Given the description of an element on the screen output the (x, y) to click on. 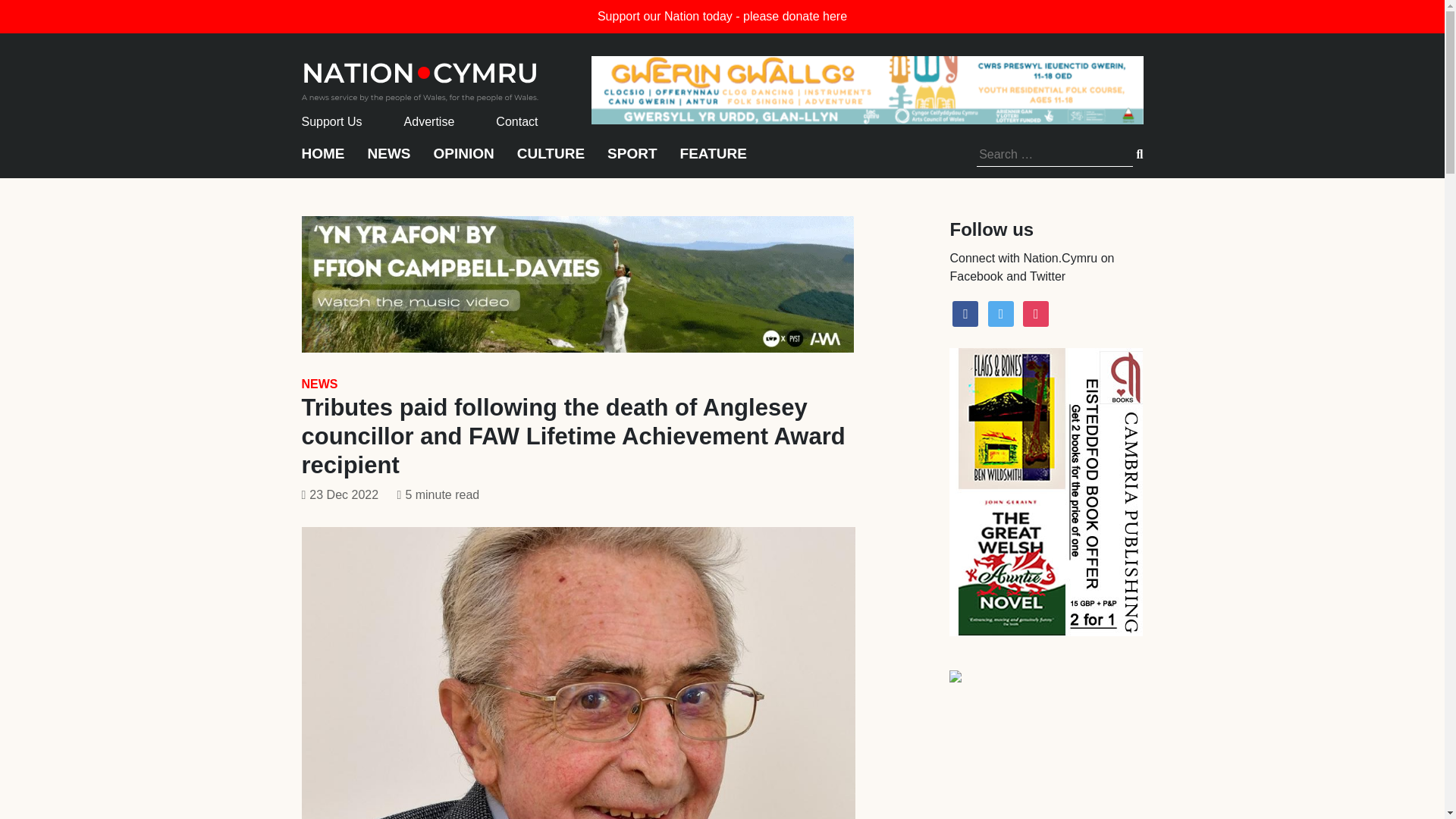
NEWS (388, 160)
Advertise (429, 121)
FEATURE (712, 160)
Contact (516, 121)
home (419, 77)
OPINION (464, 160)
HOME (323, 160)
NEWS (319, 383)
CULTURE (550, 160)
SPORT (631, 160)
